Given the description of an element on the screen output the (x, y) to click on. 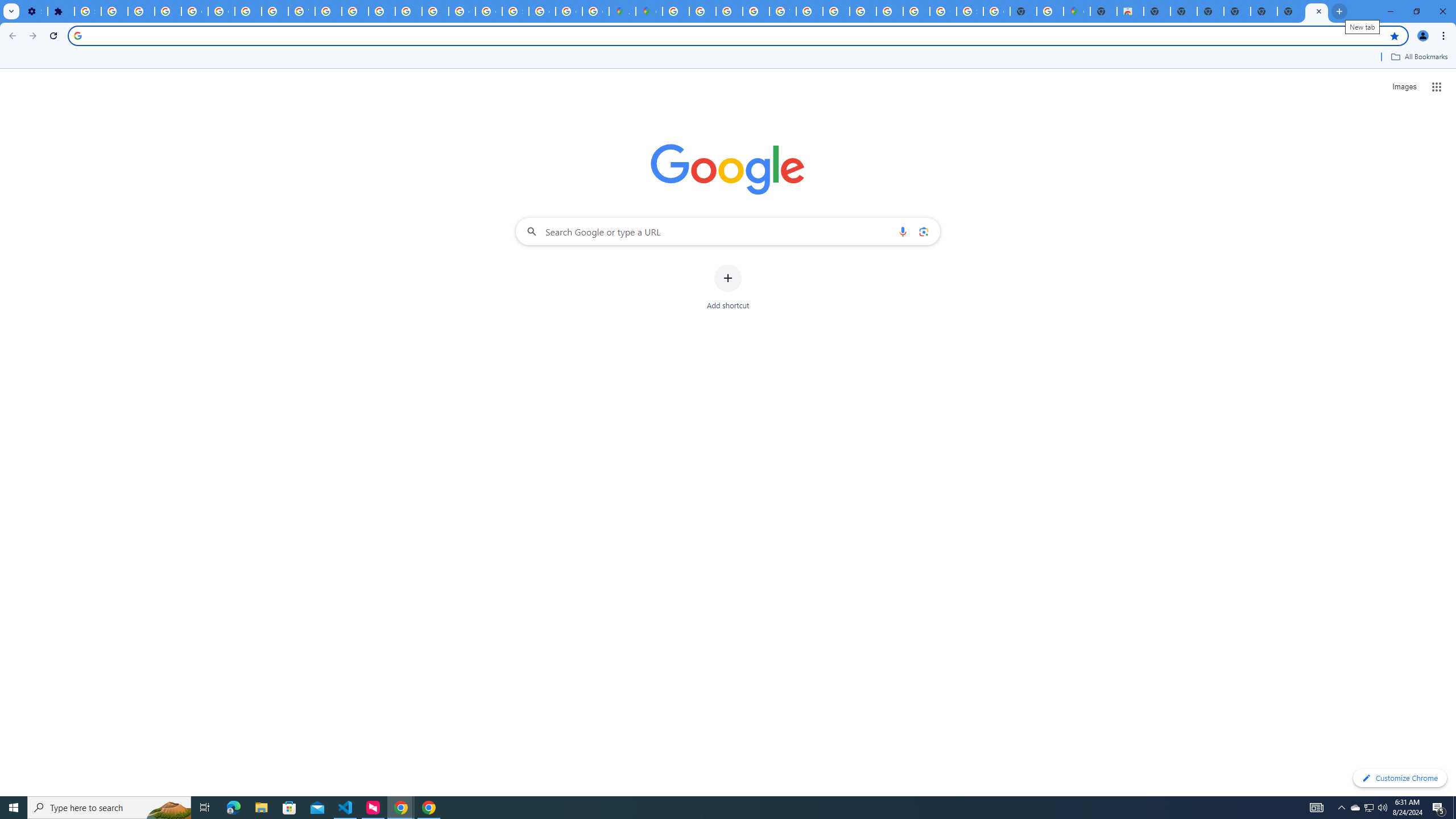
YouTube (782, 11)
Google Account Help (194, 11)
Sign in - Google Accounts (87, 11)
Policy Accountability and Transparency - Transparency Center (676, 11)
